Given the description of an element on the screen output the (x, y) to click on. 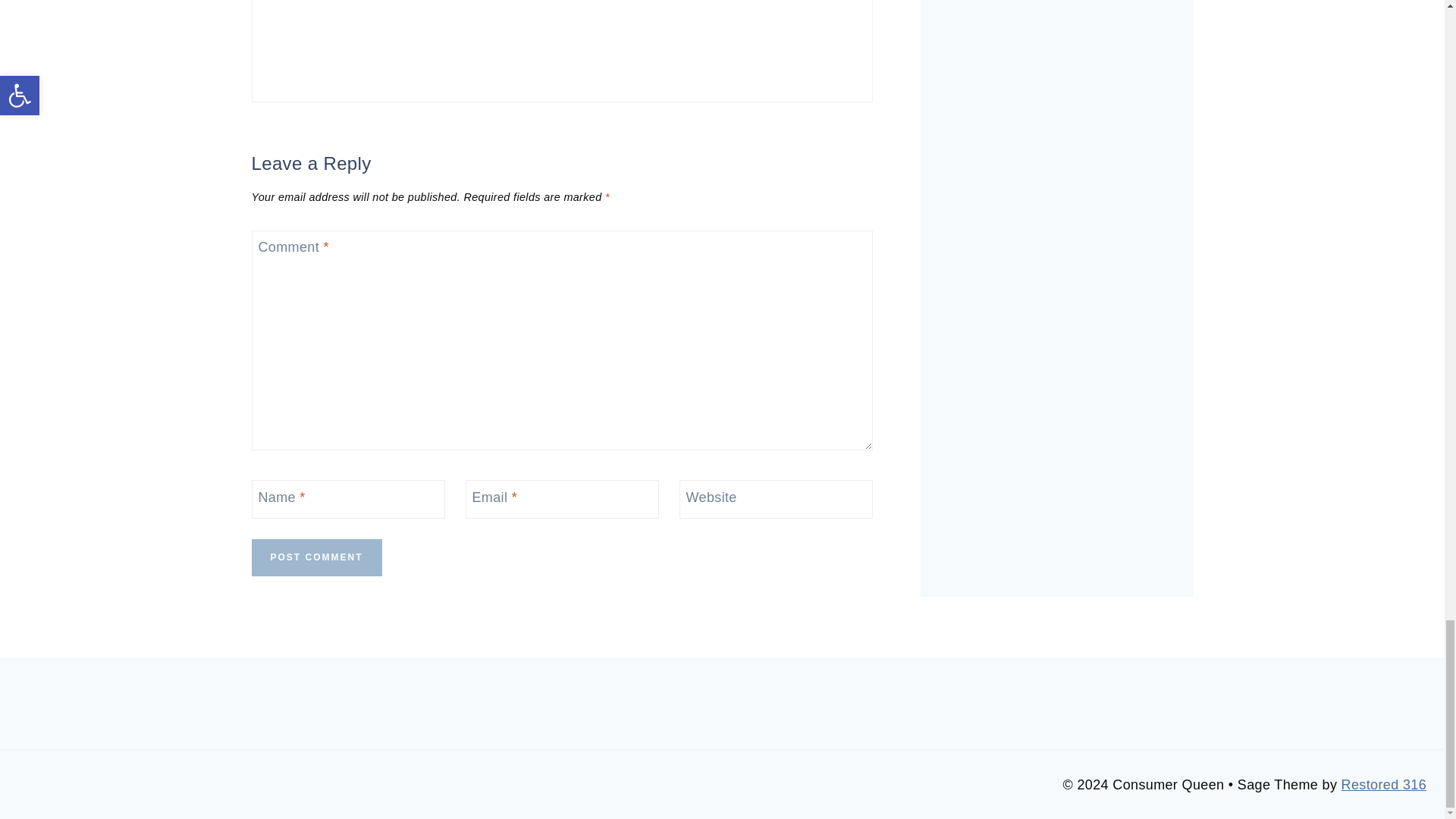
Post Comment (316, 557)
